Given the description of an element on the screen output the (x, y) to click on. 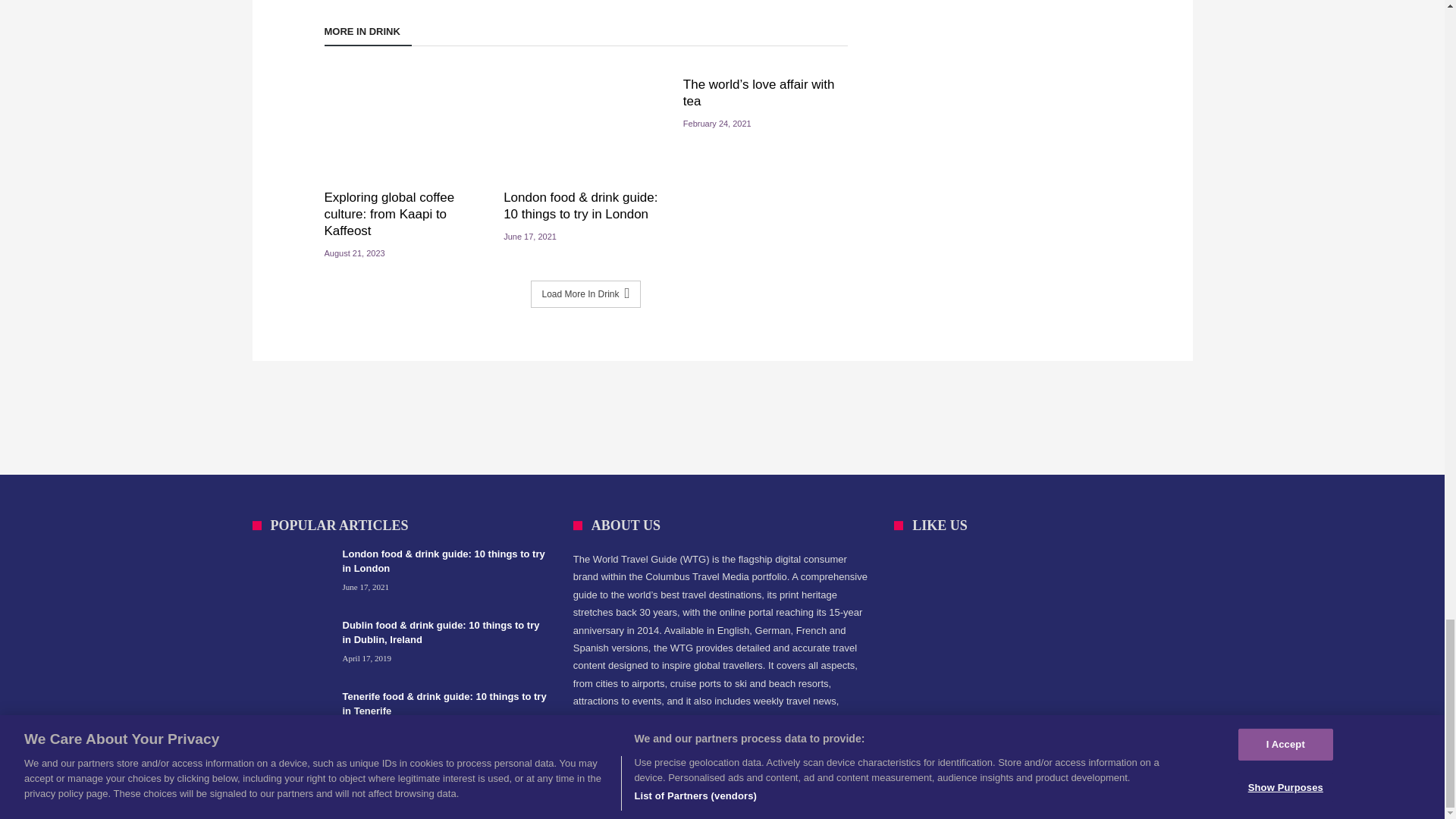
Exploring global coffee culture: from Kaapi to Kaffeost (406, 214)
MORE IN DRINK (368, 35)
